Given the description of an element on the screen output the (x, y) to click on. 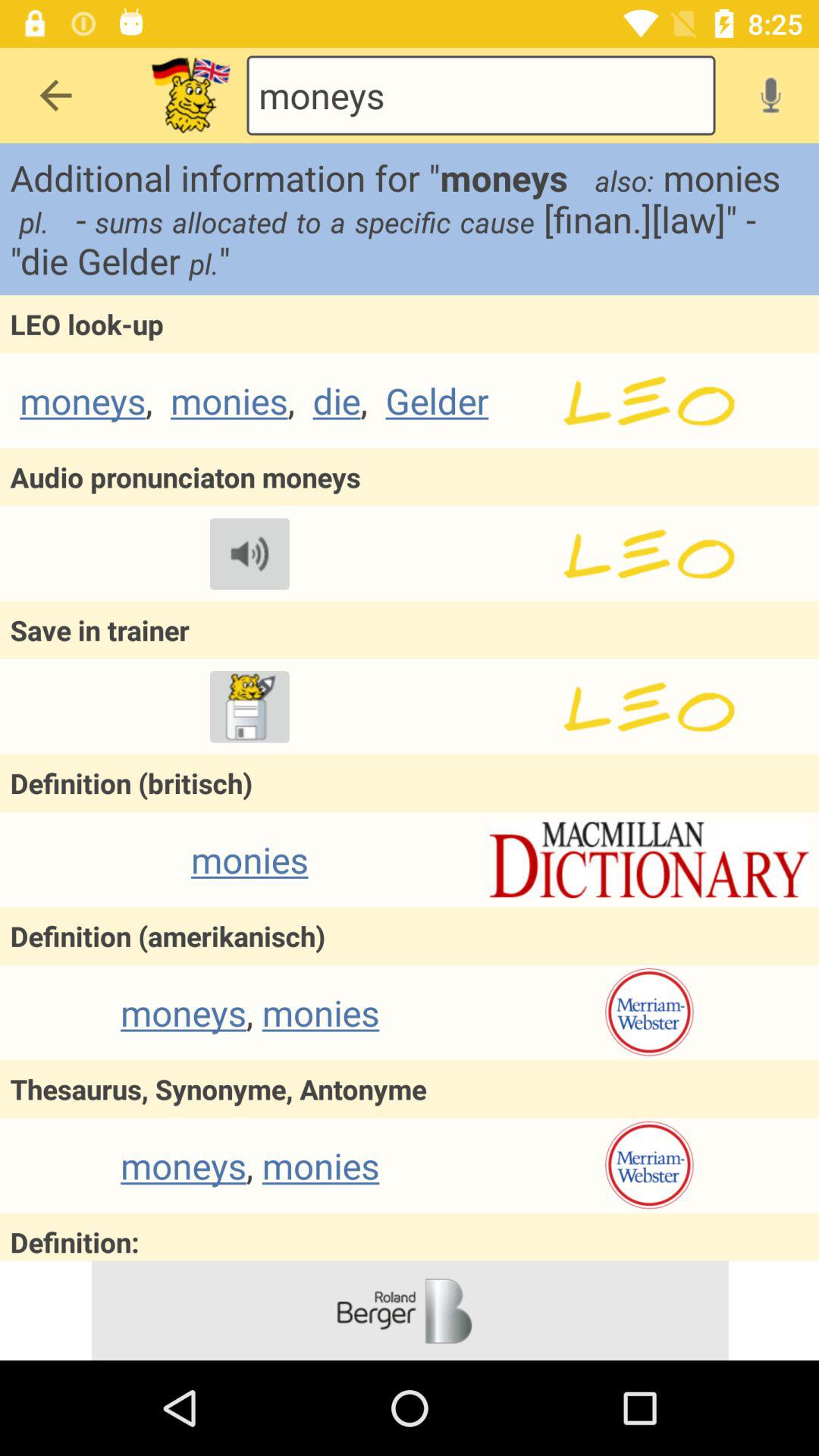
open advertisements (409, 1310)
